Given the description of an element on the screen output the (x, y) to click on. 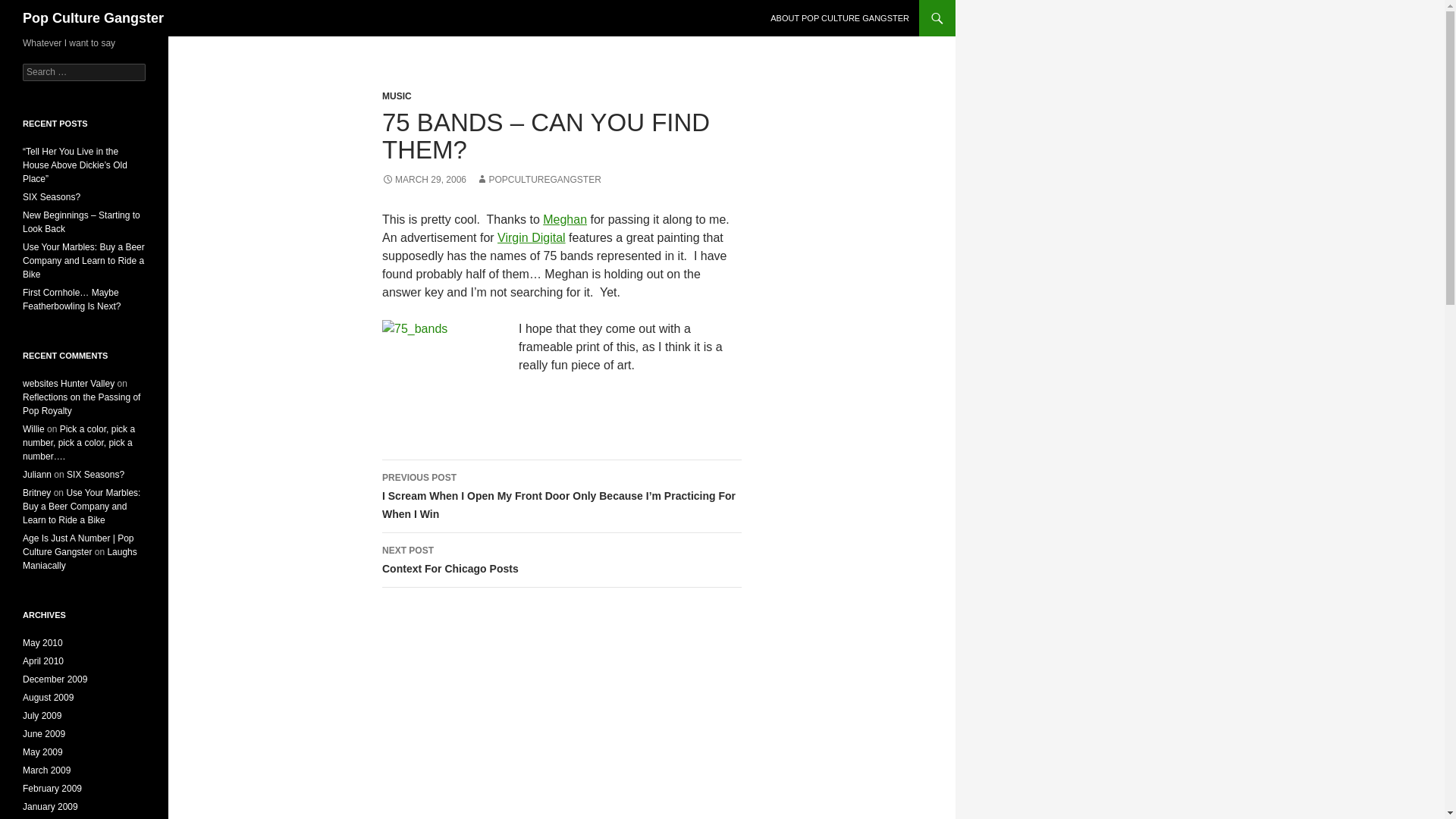
December 2009 (55, 679)
February 2009 (52, 787)
MUSIC (396, 95)
March 2009 (46, 769)
May 2010 (42, 643)
Virgin Digital (531, 237)
POPCULTUREGANGSTER (537, 179)
Meghan (564, 219)
SIX Seasons? (51, 196)
